Given the description of an element on the screen output the (x, y) to click on. 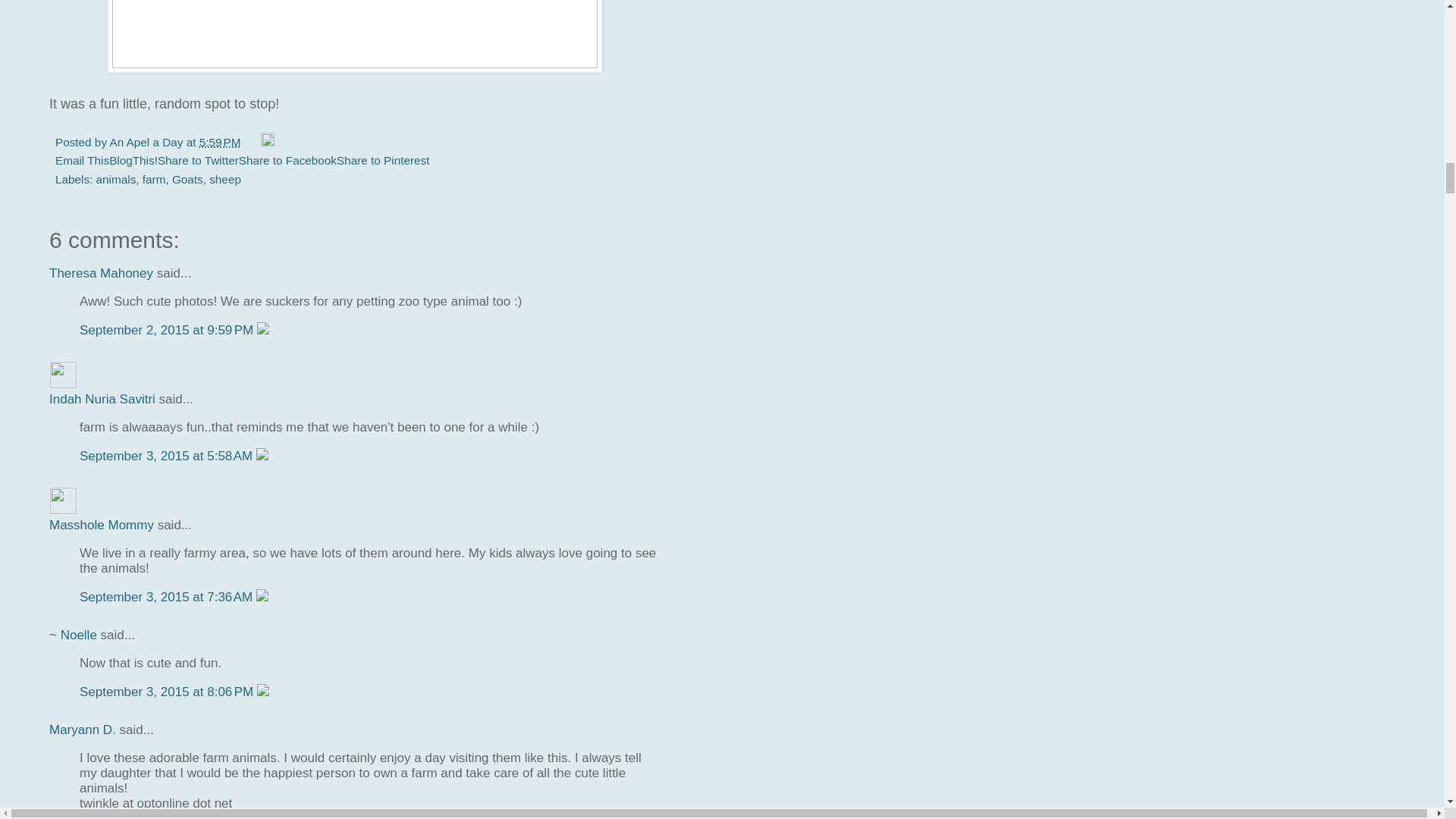
comment permalink (168, 329)
Email Post (252, 141)
sheep (225, 178)
farm (153, 178)
An Apel a Day (147, 141)
BlogThis! (133, 160)
comment permalink (168, 455)
Share to Facebook (287, 160)
permanent link (220, 141)
